Given the description of an element on the screen output the (x, y) to click on. 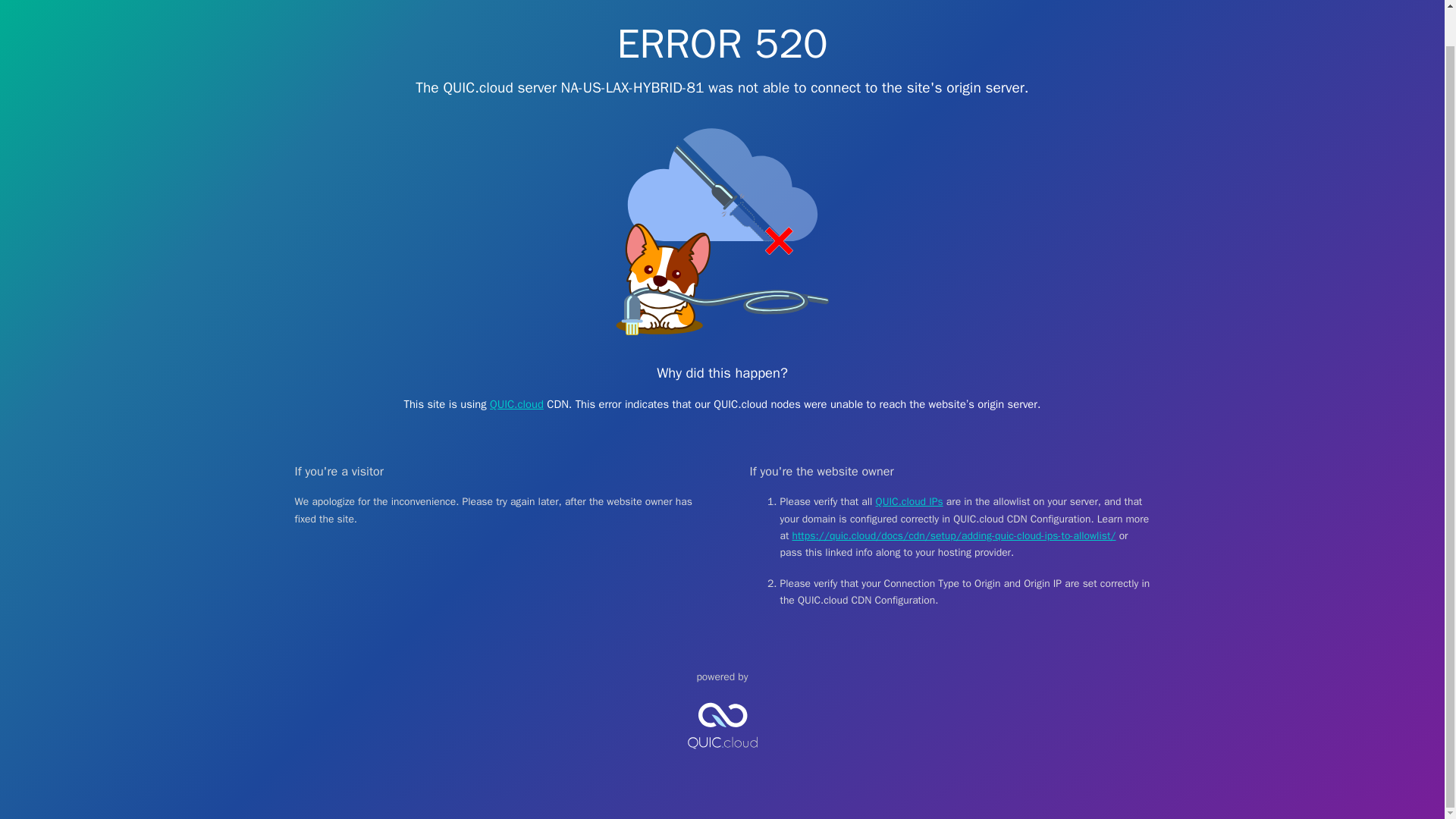
QUIC.cloud IPs (909, 501)
QUIC.cloud (516, 404)
QUIC.cloud (721, 761)
